Given the description of an element on the screen output the (x, y) to click on. 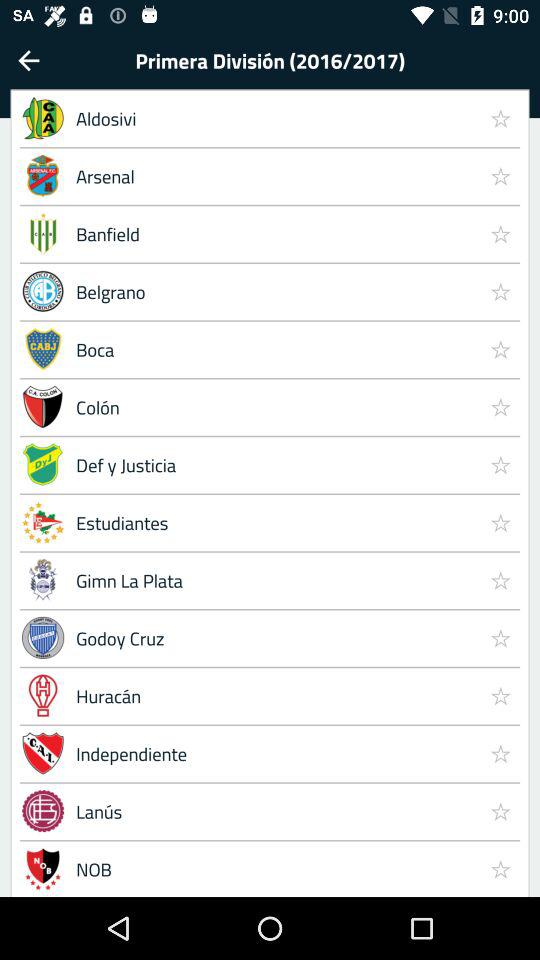
jump to aldosivi item (273, 118)
